Given the description of an element on the screen output the (x, y) to click on. 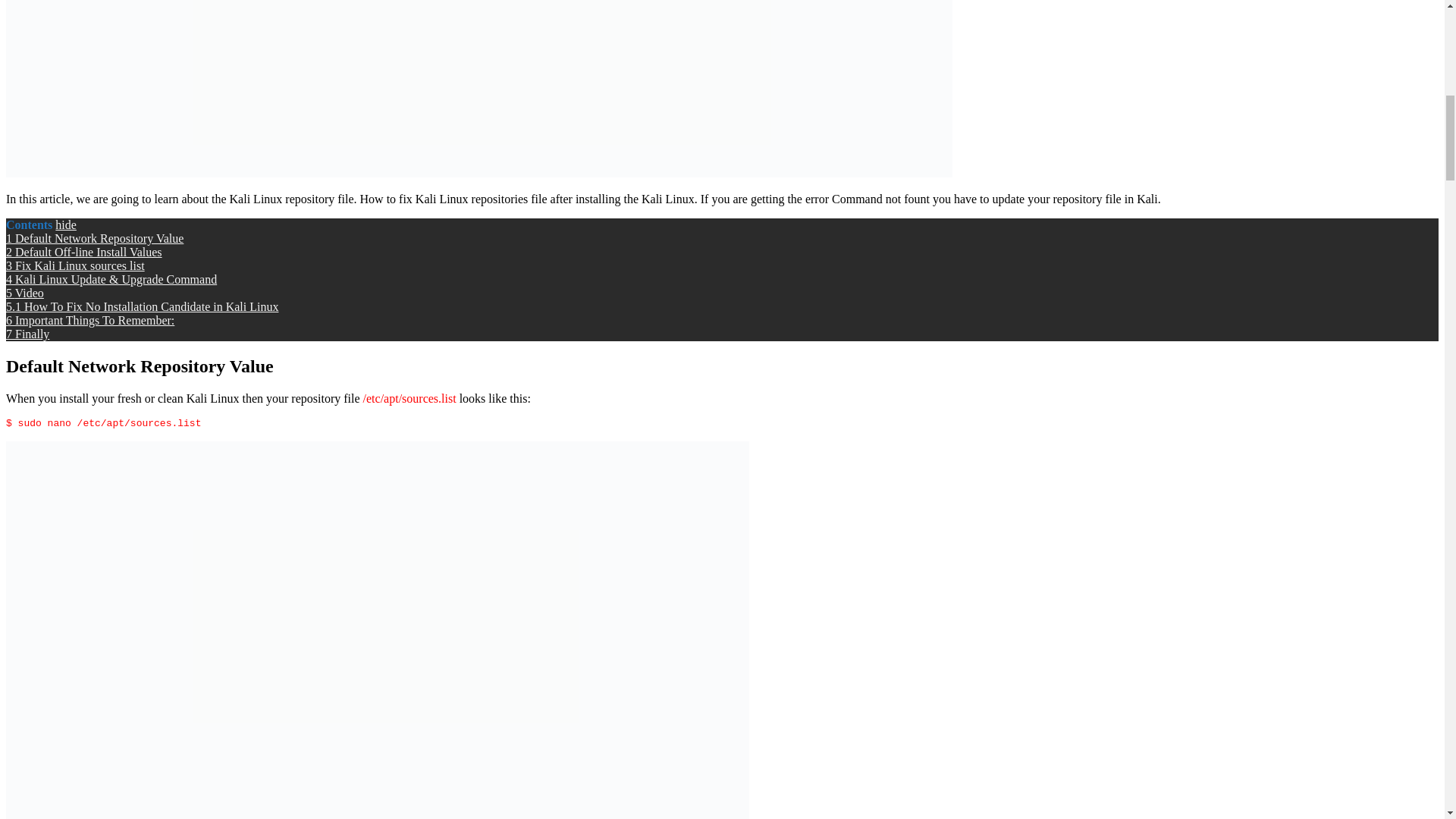
hide (66, 224)
5.1 How To Fix No Installation Candidate in Kali Linux (141, 306)
1 Default Network Repository Value (94, 237)
2 Default Off-line Install Values (83, 251)
6 Important Things To Remember: (89, 319)
5 Video (24, 292)
7 Finally (27, 333)
3 Fix Kali Linux sources list (74, 265)
